Given the description of an element on the screen output the (x, y) to click on. 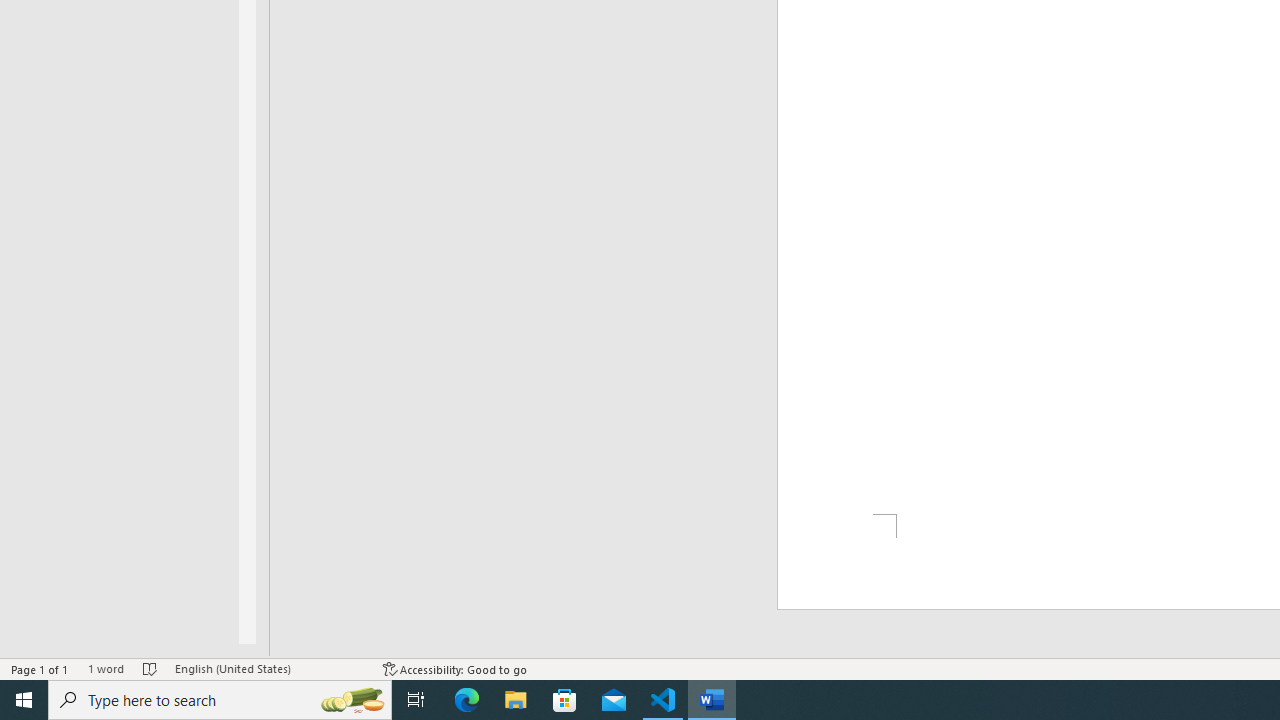
Page Number Page 1 of 1 (39, 668)
Spelling and Grammar Check No Errors (150, 668)
